Given the description of an element on the screen output the (x, y) to click on. 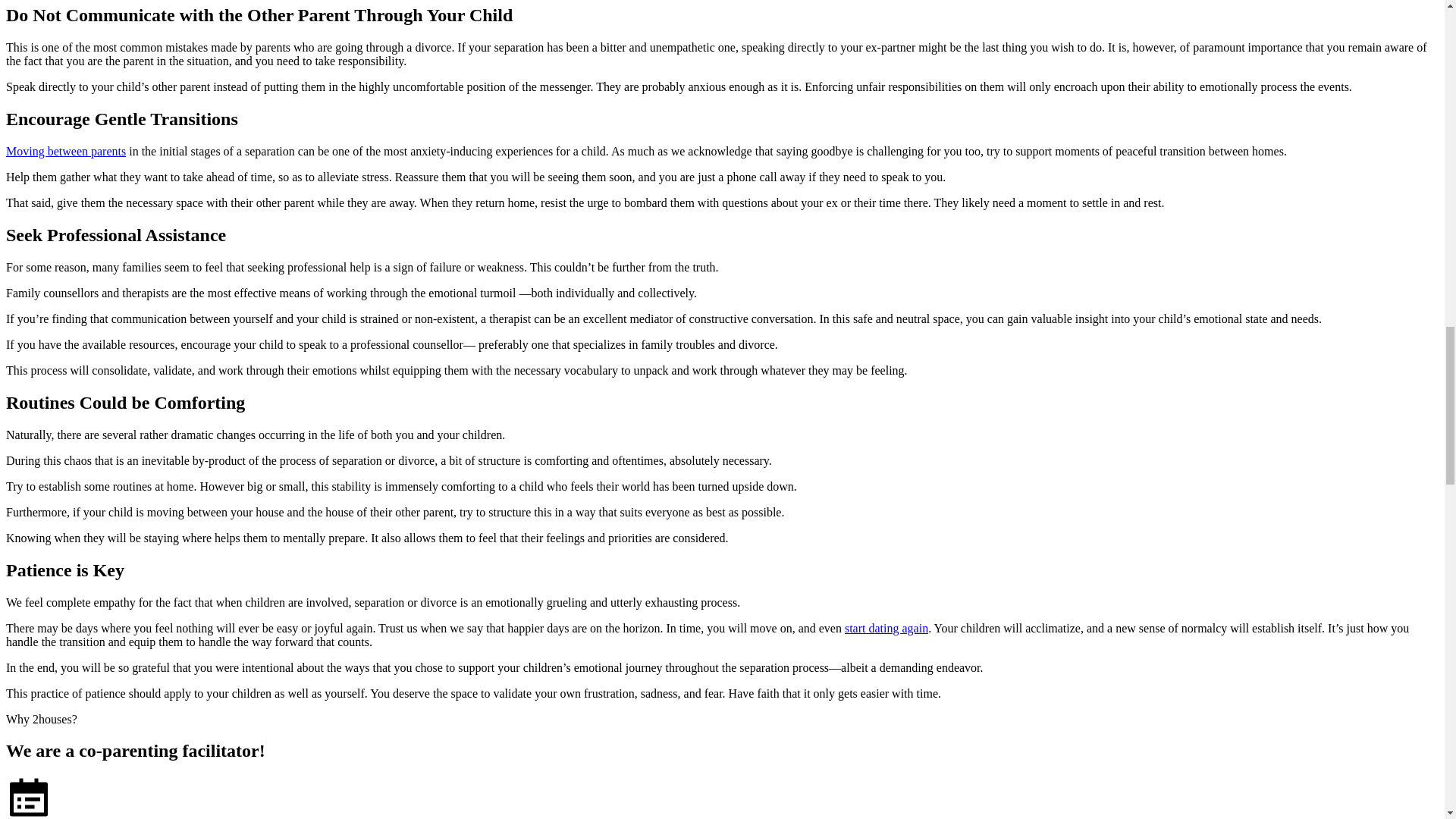
Moving between parents (65, 151)
start dating again (886, 627)
